Given the description of an element on the screen output the (x, y) to click on. 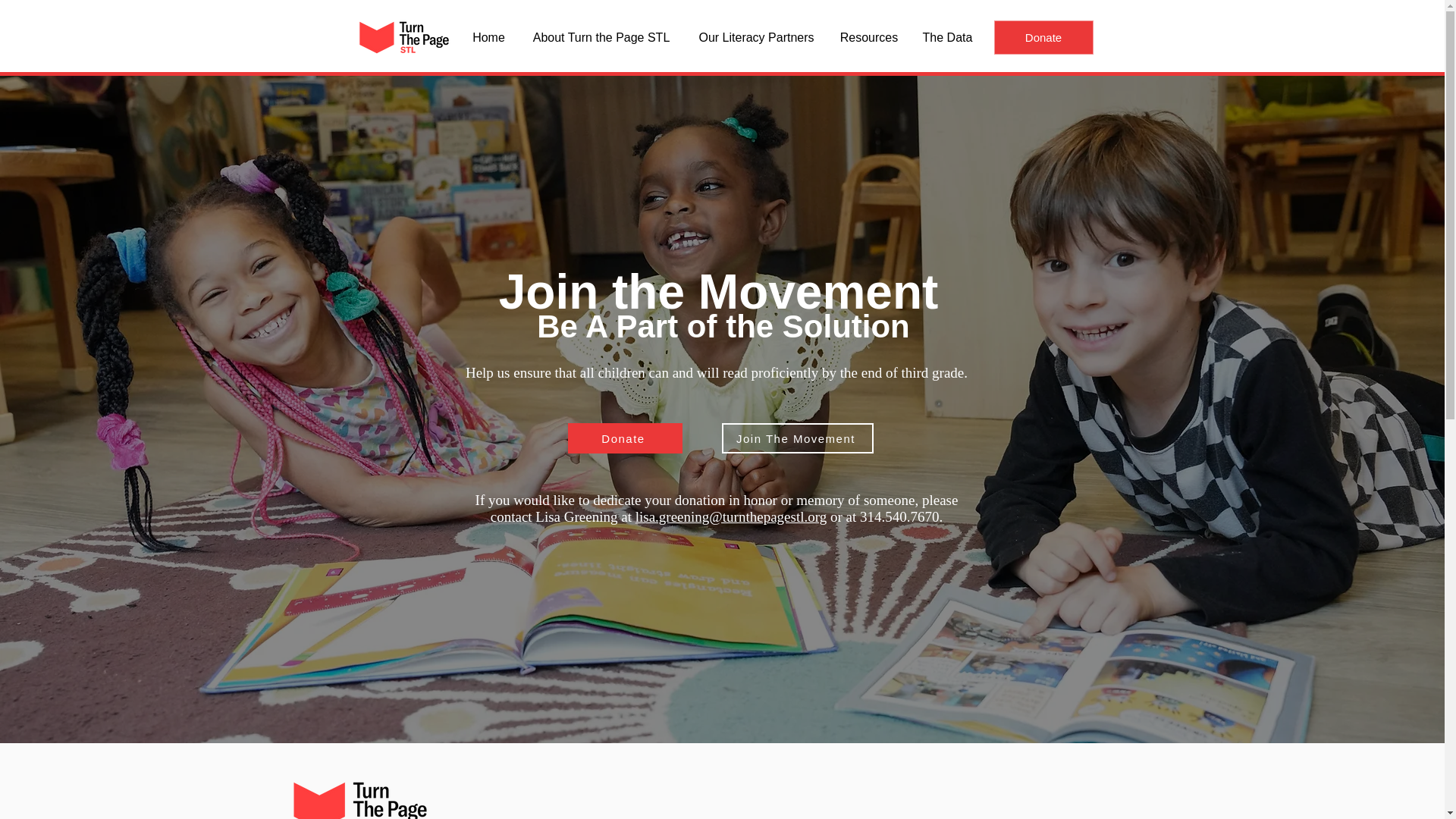
Join The Movement (797, 438)
Donate (624, 438)
About Turn the Page STL (601, 37)
Resources (868, 37)
The Data (947, 37)
Home (489, 37)
Donate (1042, 37)
